Given the description of an element on the screen output the (x, y) to click on. 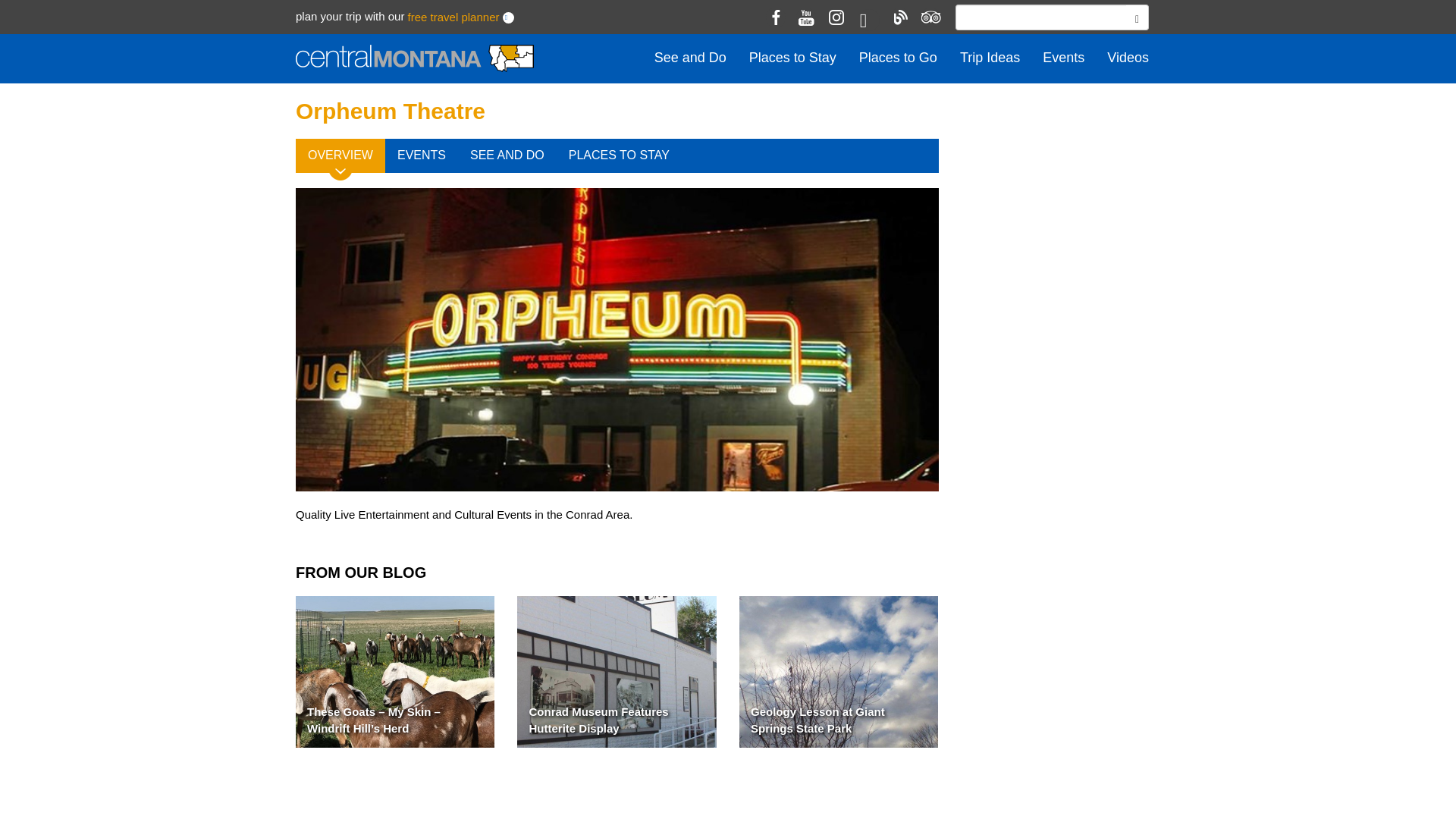
Central Montana Blog (899, 17)
Follow us on Twitter (868, 20)
Central Montana (414, 58)
See and Do (690, 57)
Like us on Facebook (775, 17)
Order Travel Planner (507, 17)
TripAdvisor Central Montana (930, 17)
Order Travel Planner (453, 16)
Pin us on Instagram (836, 17)
free travel planner (453, 16)
